Given the description of an element on the screen output the (x, y) to click on. 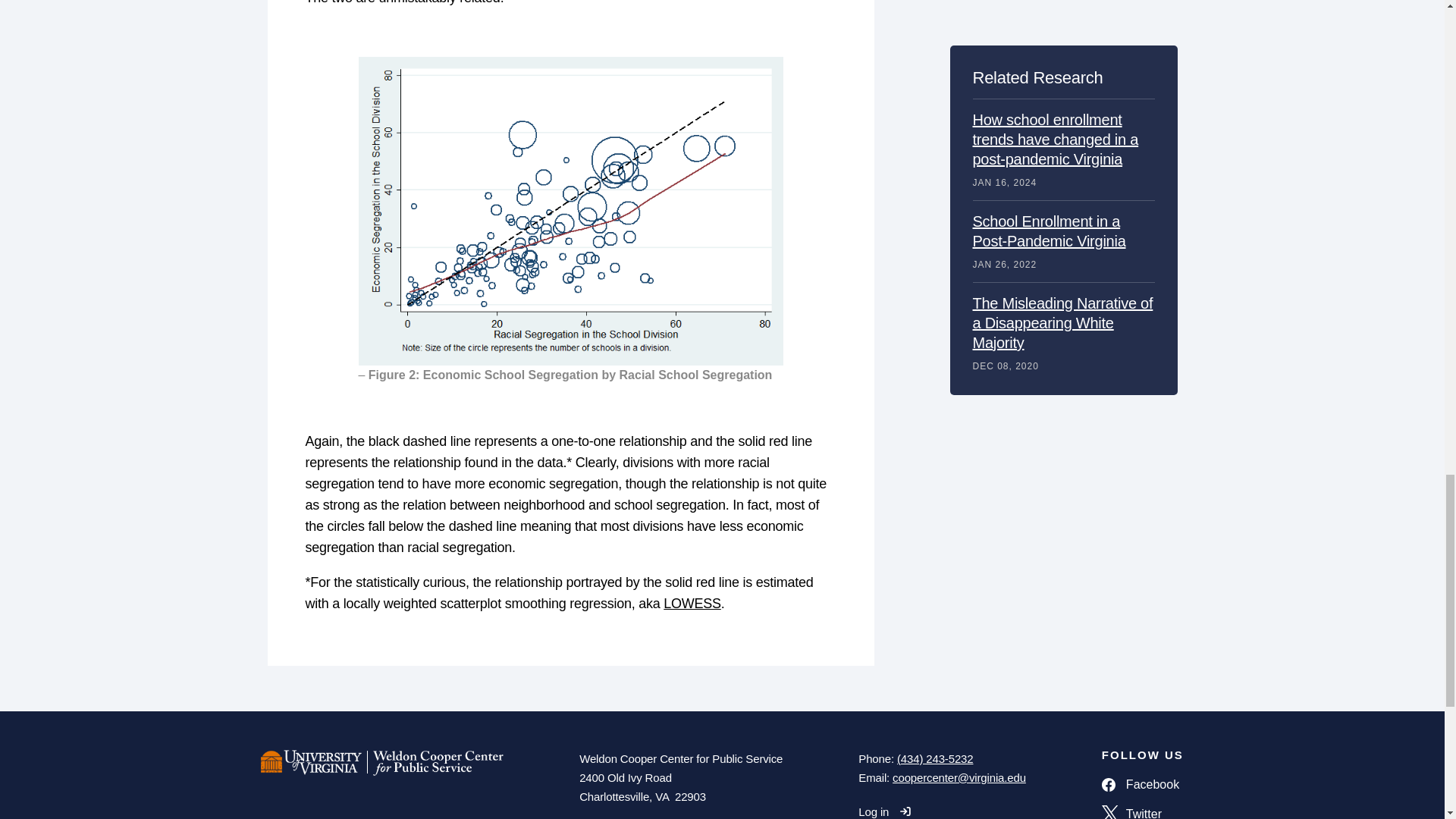
Facebook (1142, 784)
LOWESS (691, 603)
seg2.png (570, 210)
Twitter (1142, 812)
Virginia (661, 796)
